Given the description of an element on the screen output the (x, y) to click on. 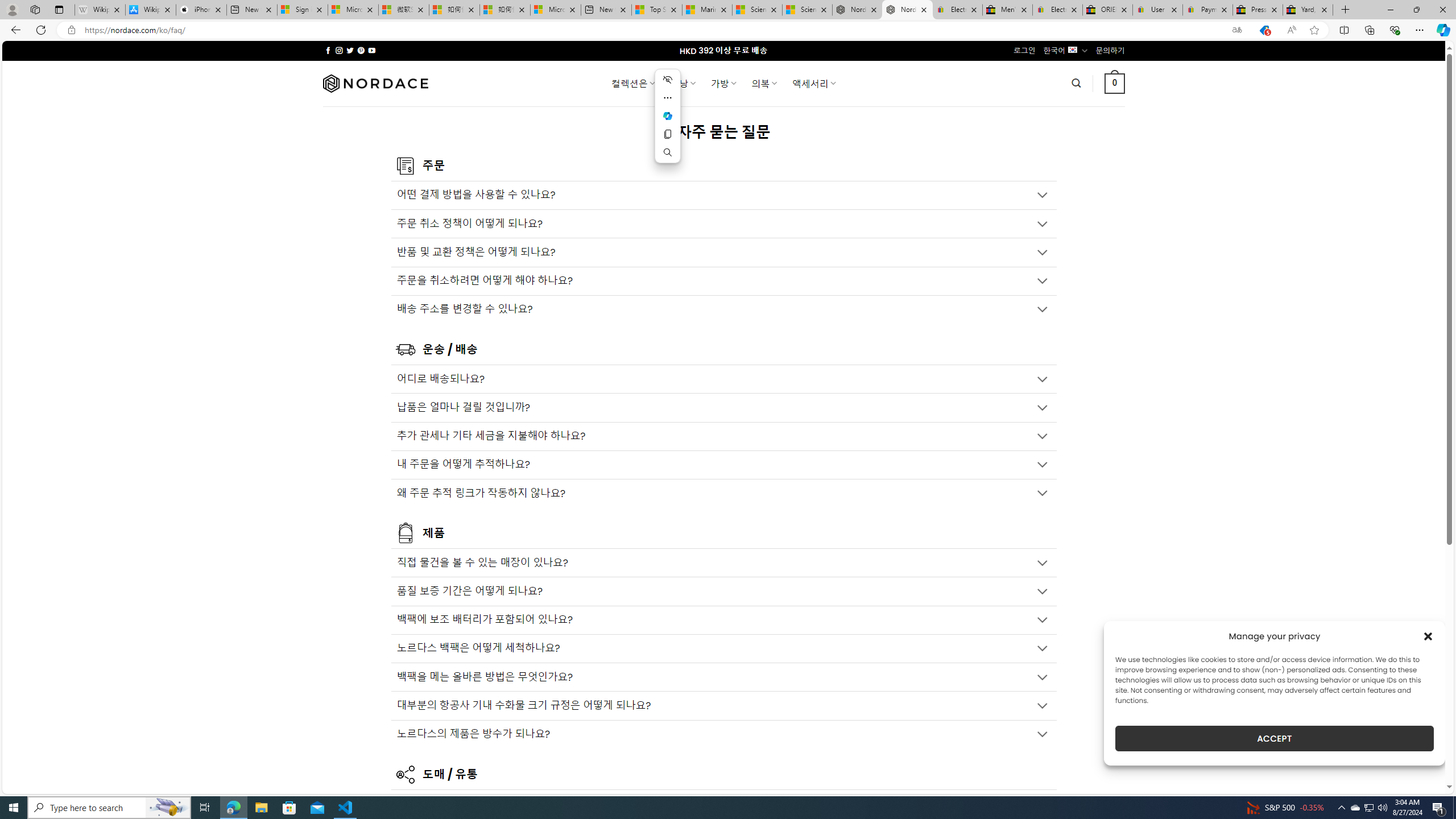
Nordace - FAQ (907, 9)
Mini menu on text selection (667, 115)
Nordace - Summer Adventures 2024 (856, 9)
Follow on Twitter (349, 50)
